Given the description of an element on the screen output the (x, y) to click on. 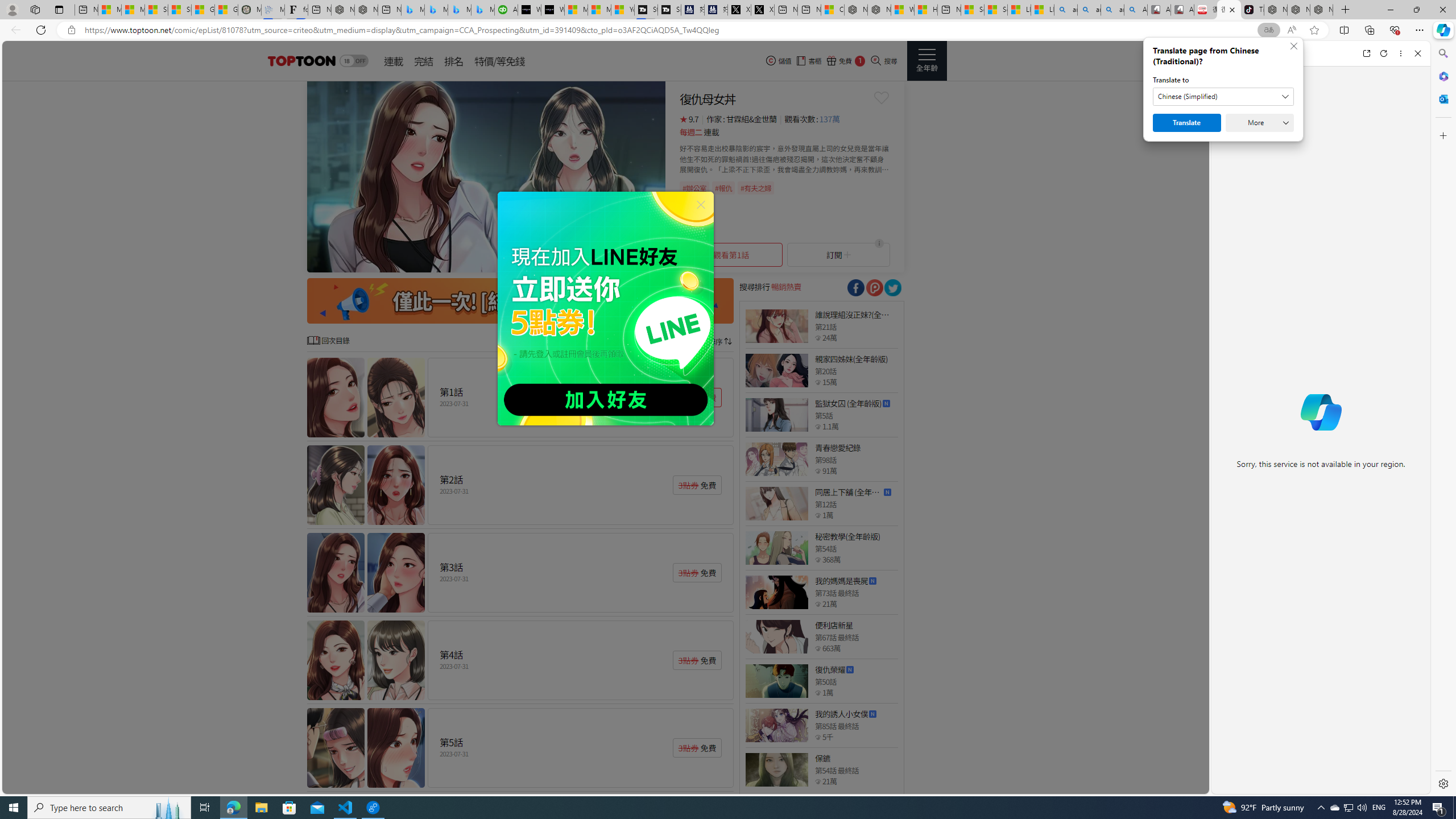
Gilma and Hector both pose tropical trouble for Hawaii (226, 9)
Compose (1280, 52)
Translate to (1223, 96)
What's the best AI voice generator? - voice.ai (552, 9)
Huge shark washes ashore at New York City beach | Watch (926, 9)
All Cubot phones (1182, 9)
Class: socialShare (892, 287)
